Given the description of an element on the screen output the (x, y) to click on. 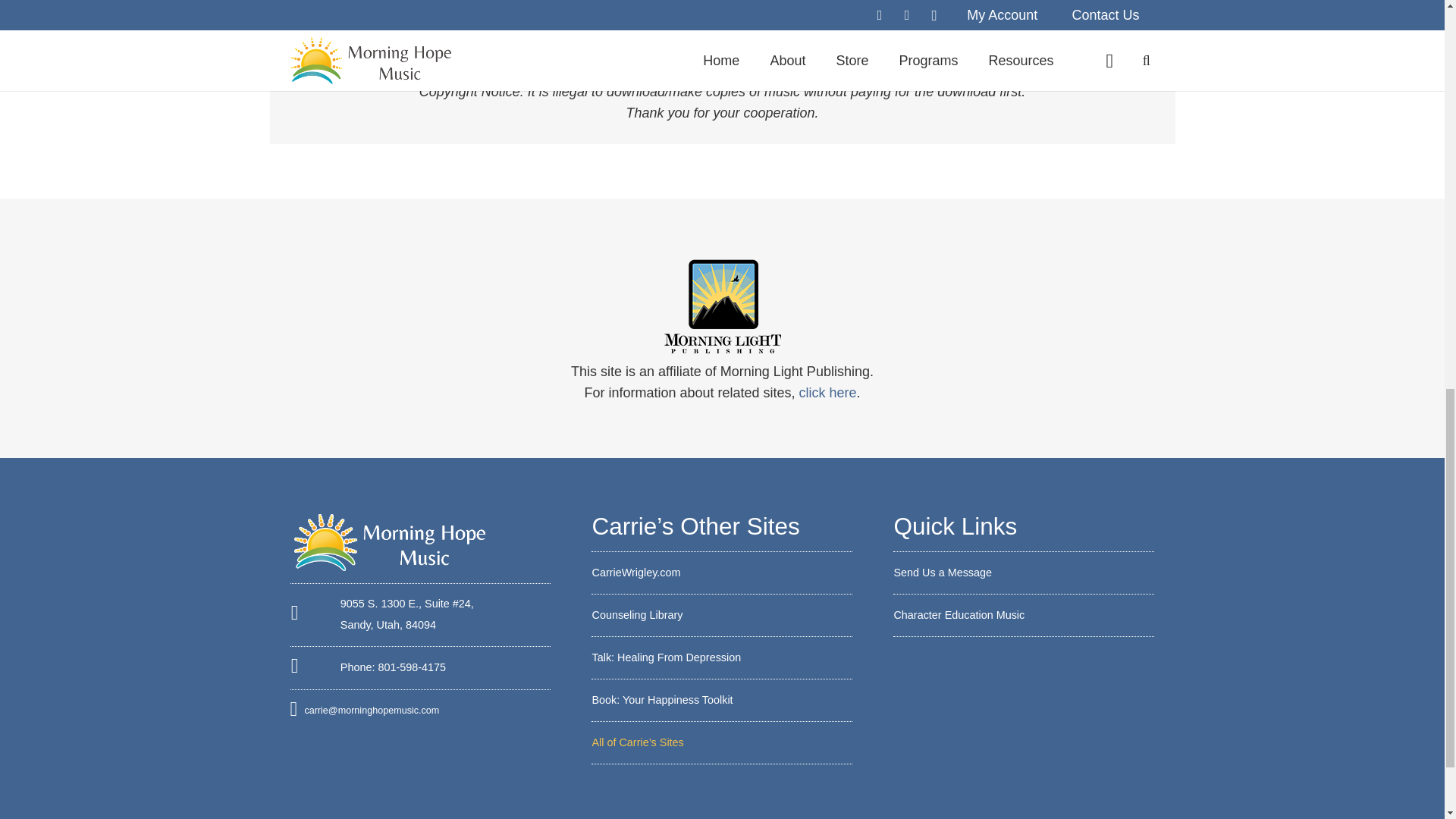
Contact (942, 572)
Back to top (1413, 26)
